Given the description of an element on the screen output the (x, y) to click on. 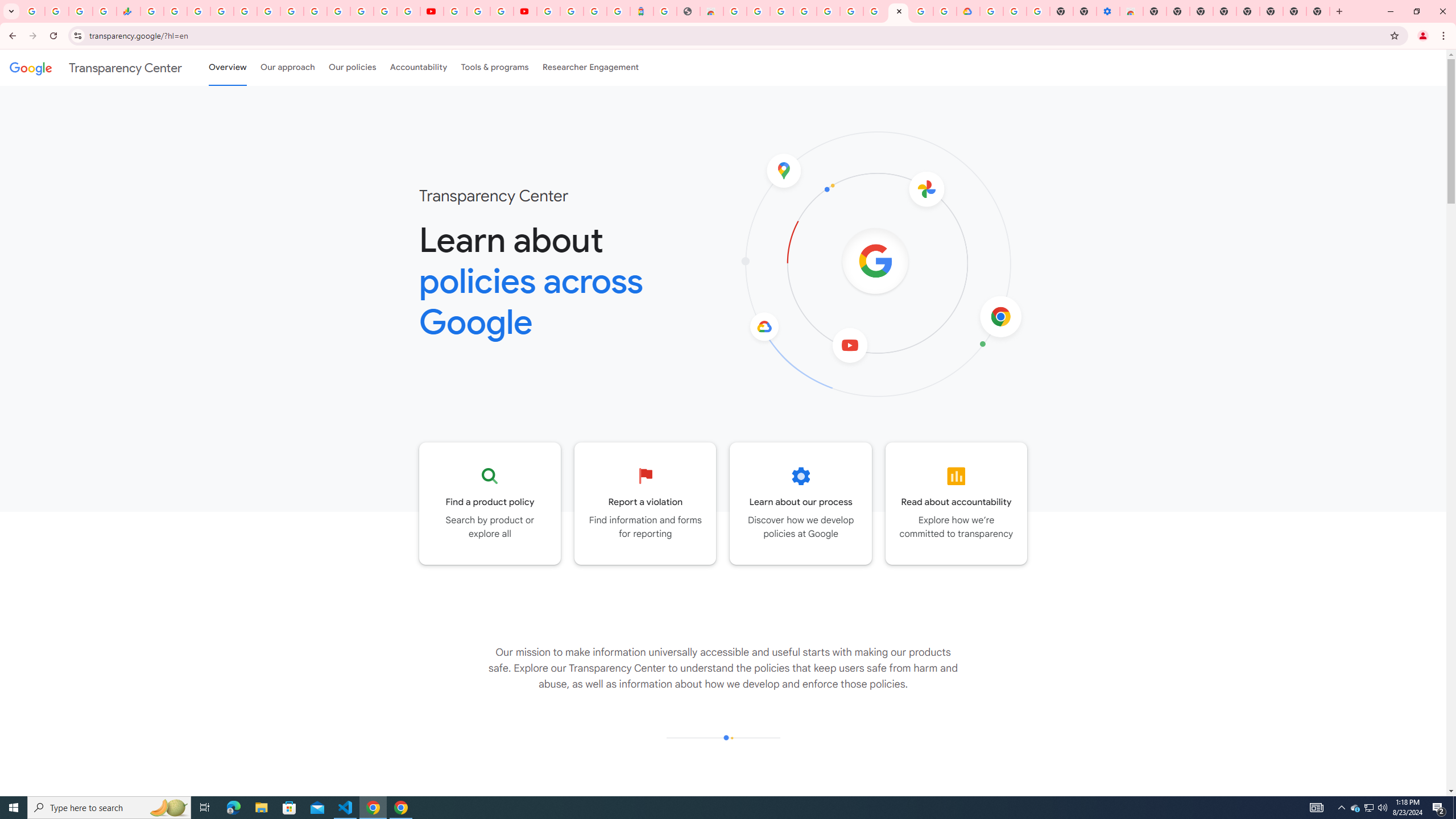
YouTube (454, 11)
Google Account Help (874, 11)
Chrome Web Store - Accessibility extensions (1131, 11)
Android TV Policies and Guidelines - Transparency Center (291, 11)
Minimize (1390, 11)
Go to the Accountability page (956, 503)
YouTube (314, 11)
Reload (52, 35)
Sign in - Google Accounts (547, 11)
New Tab (1338, 11)
Content Creator Programs & Opportunities - YouTube Creators (524, 11)
